Given the description of an element on the screen output the (x, y) to click on. 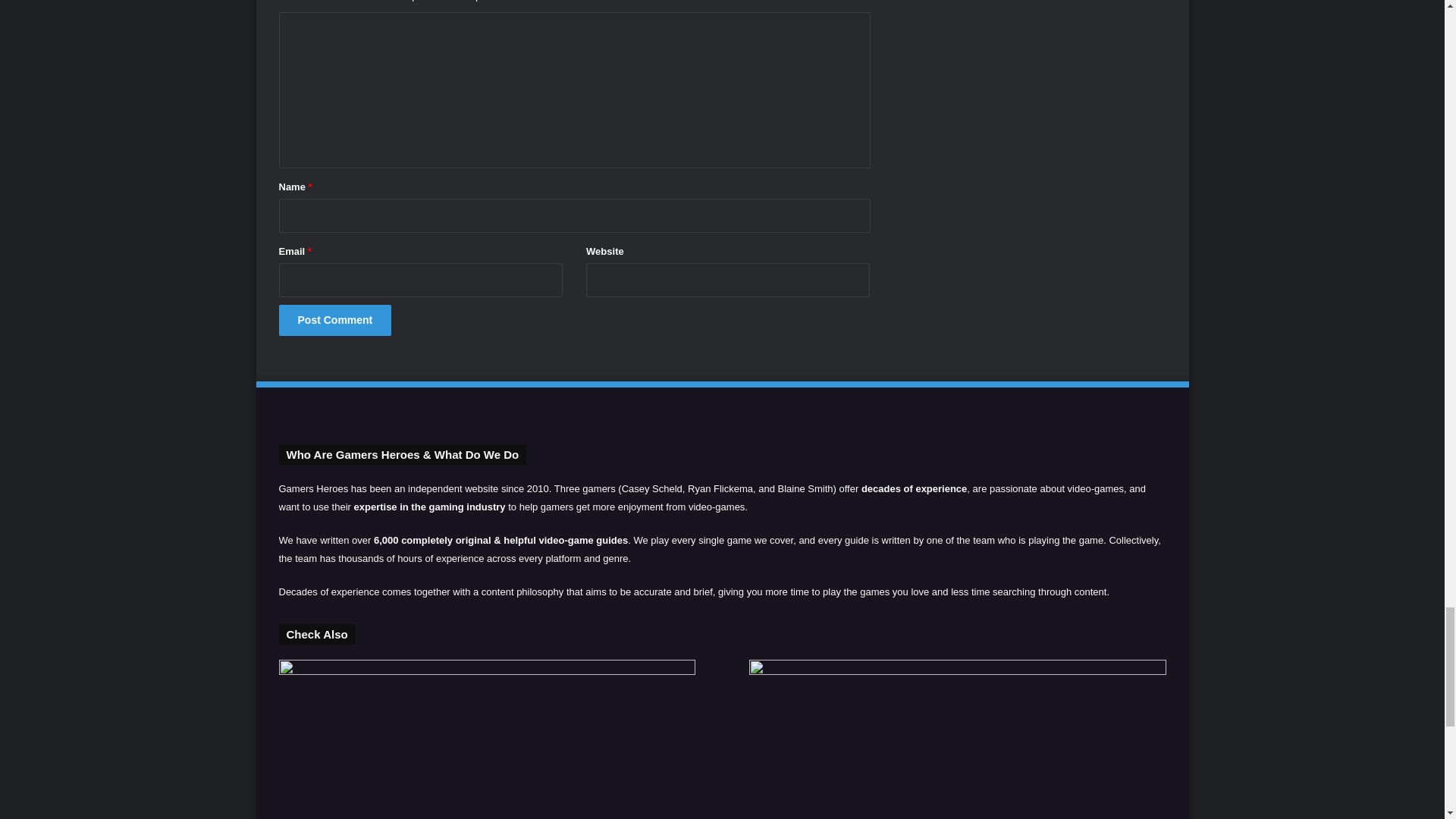
Post Comment (335, 319)
